Given the description of an element on the screen output the (x, y) to click on. 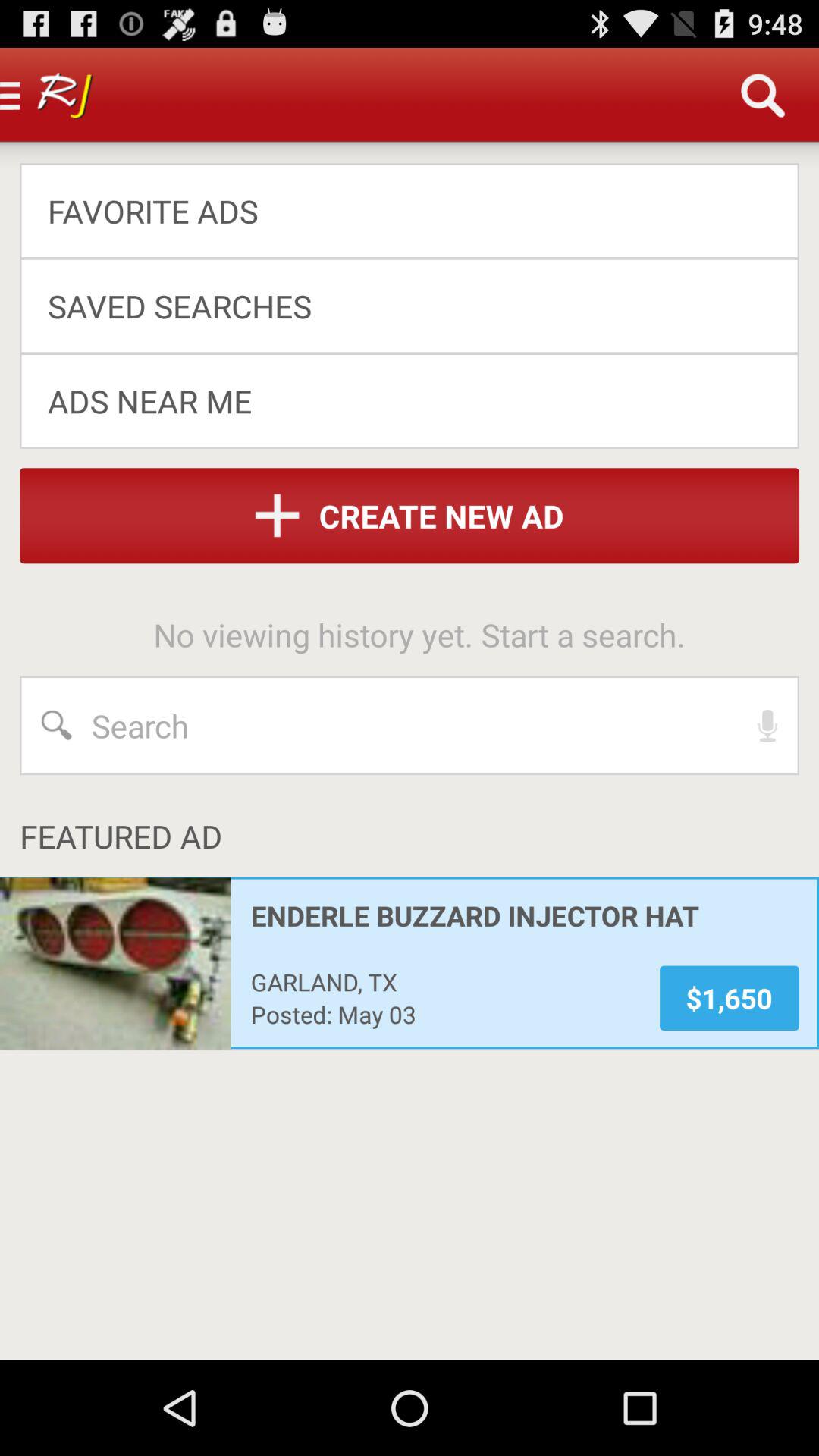
select no viewing history (419, 634)
